Given the description of an element on the screen output the (x, y) to click on. 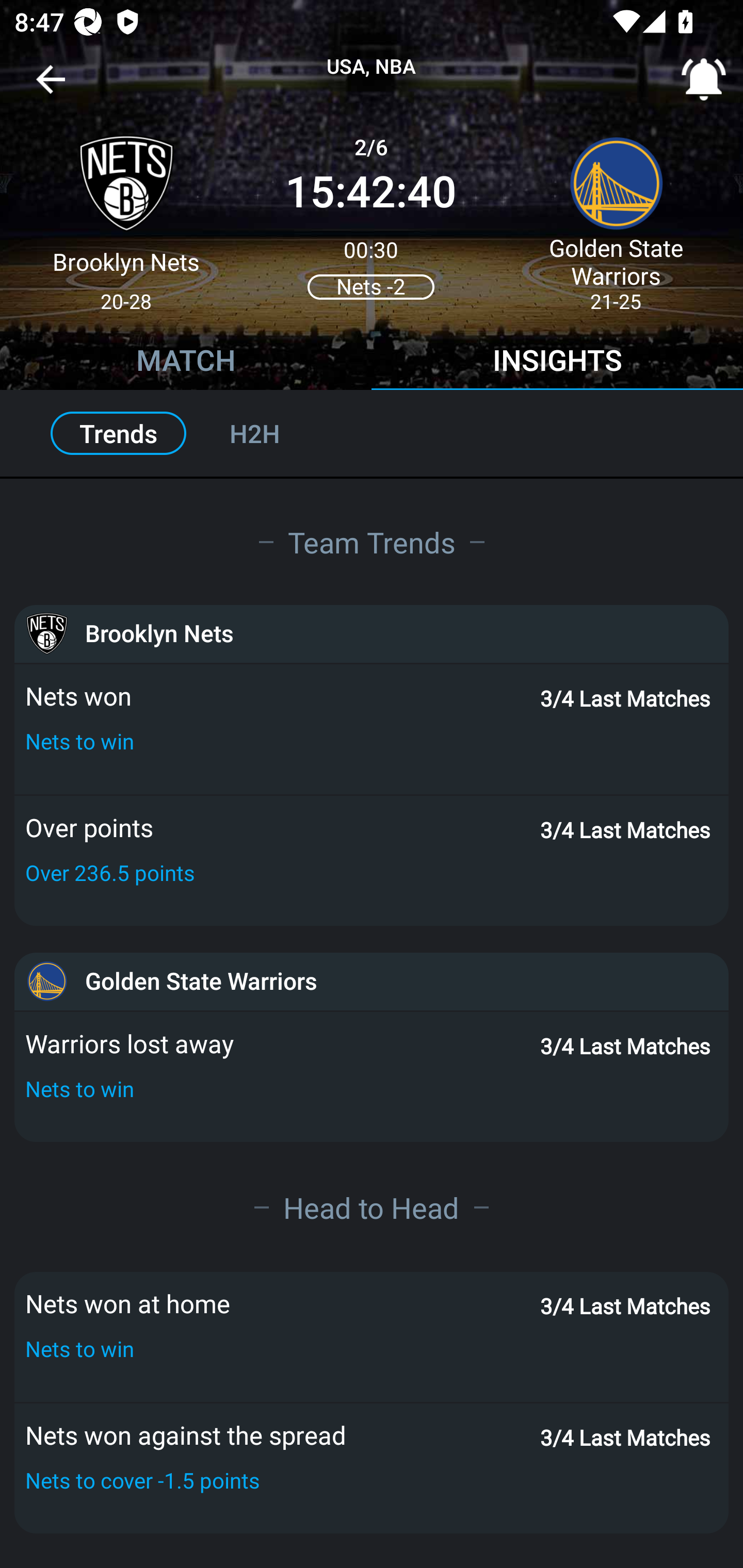
Navigate up (50, 86)
USA, NBA (371, 66)
Brooklyn Nets 20-28 (126, 214)
Golden State Warriors 21-25 (616, 214)
MATCH (185, 362)
INSIGHTS (557, 362)
H2H (276, 433)
Team Trends (371, 541)
Brooklyn Nets (371, 634)
Nets won 3/4 Last Matches Nets to win (371, 729)
Over points 3/4 Last Matches Over 236.5 points (371, 860)
Golden State Warriors (371, 981)
Warriors lost away 3/4 Last Matches Nets to win (371, 1076)
Head to Head (371, 1207)
Nets won at home 3/4 Last Matches Nets to win (371, 1336)
